Given the description of an element on the screen output the (x, y) to click on. 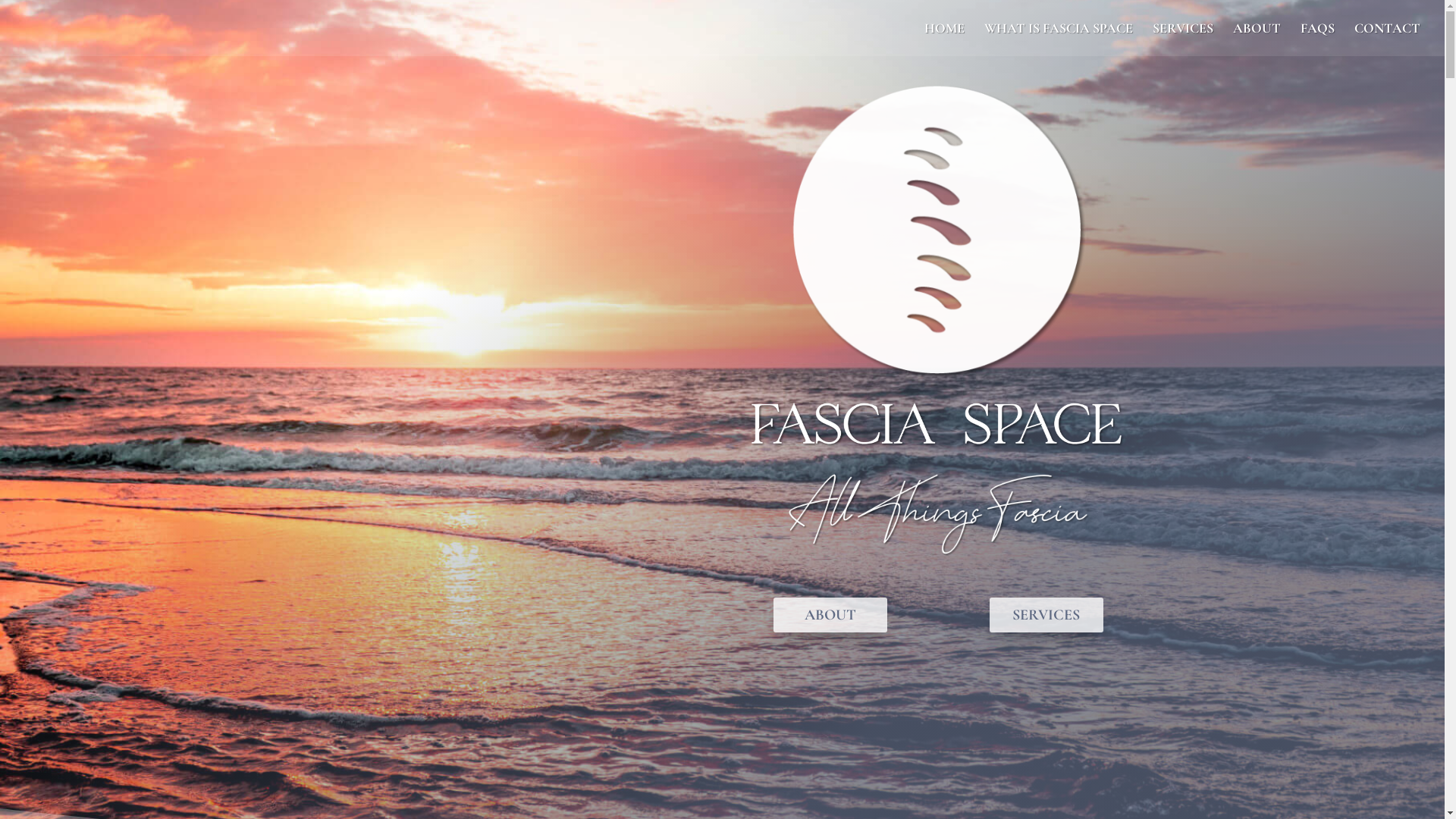
WHAT IS FASCIA SPACE Element type: text (1058, 39)
SERVICES Element type: text (1046, 614)
Fascia Space Element type: hover (937, 231)
All Things Fascia Element type: hover (937, 513)
FAQS Element type: text (1317, 39)
Fascia Space Element type: hover (937, 424)
HOME Element type: text (944, 39)
ABOUT Element type: text (830, 614)
ABOUT Element type: text (1256, 39)
SERVICES Element type: text (1182, 39)
CONTACT Element type: text (1387, 39)
